Given the description of an element on the screen output the (x, y) to click on. 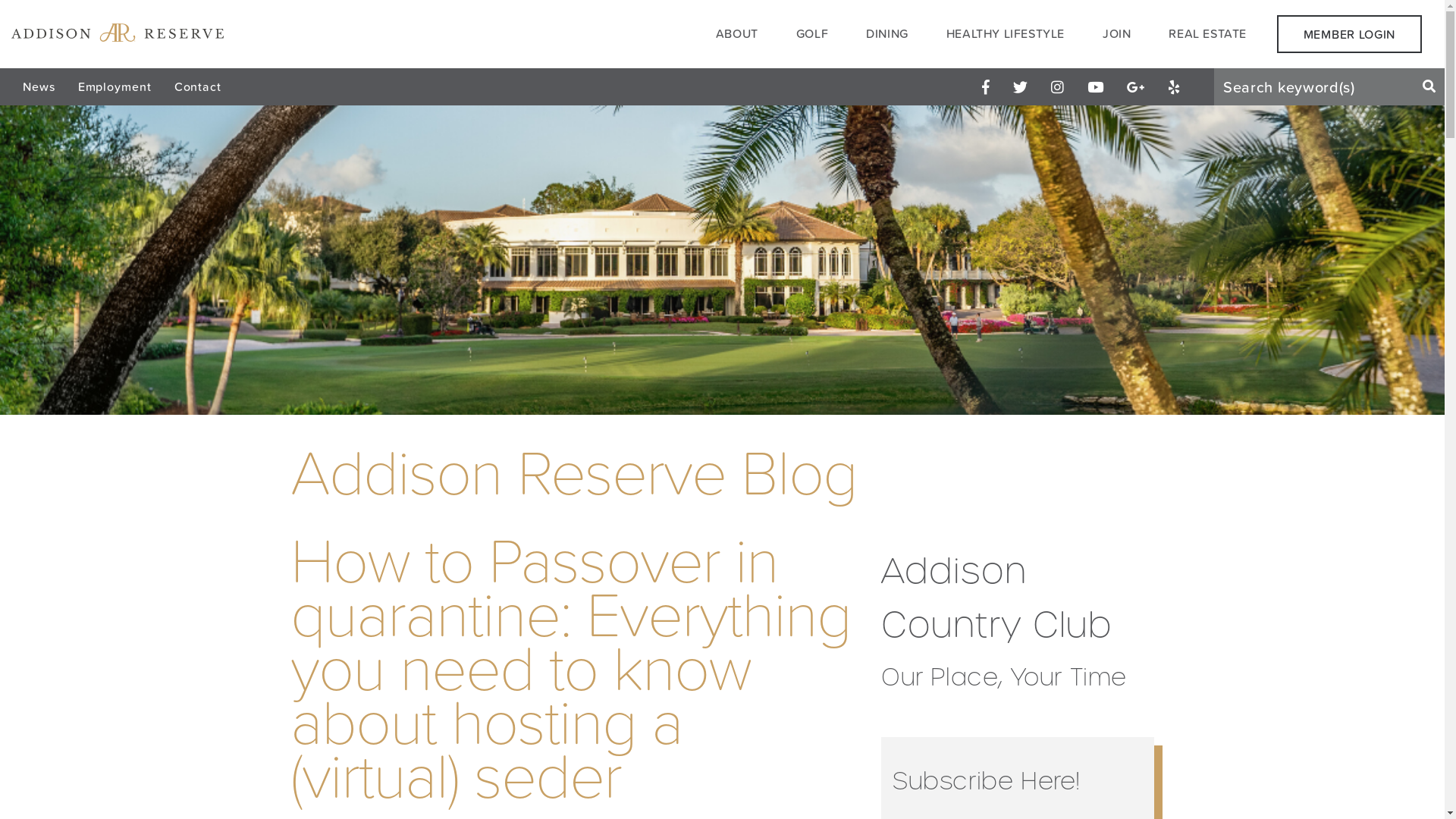
Contact Element type: text (197, 86)
News Element type: text (38, 86)
Employment Element type: text (114, 86)
JOIN Element type: text (1116, 33)
Instagram, opens in new window Element type: text (1057, 86)
Yelp, opens in new window Element type: text (1174, 86)
Twitter, opens in new window Element type: text (1020, 86)
Youtube, opens in new window Element type: text (1095, 86)
Google Plus, opens in new window Element type: text (1136, 86)
GOLF Element type: text (811, 33)
Search Element type: text (1428, 86)
DINING Element type: text (887, 33)
Facebook, opens in new window Element type: text (985, 86)
ABOUT Element type: text (736, 33)
MEMBER LOGIN Element type: text (1349, 34)
REAL ESTATE Element type: text (1207, 33)
HEALTHY LIFESTYLE Element type: text (1005, 33)
